Given the description of an element on the screen output the (x, y) to click on. 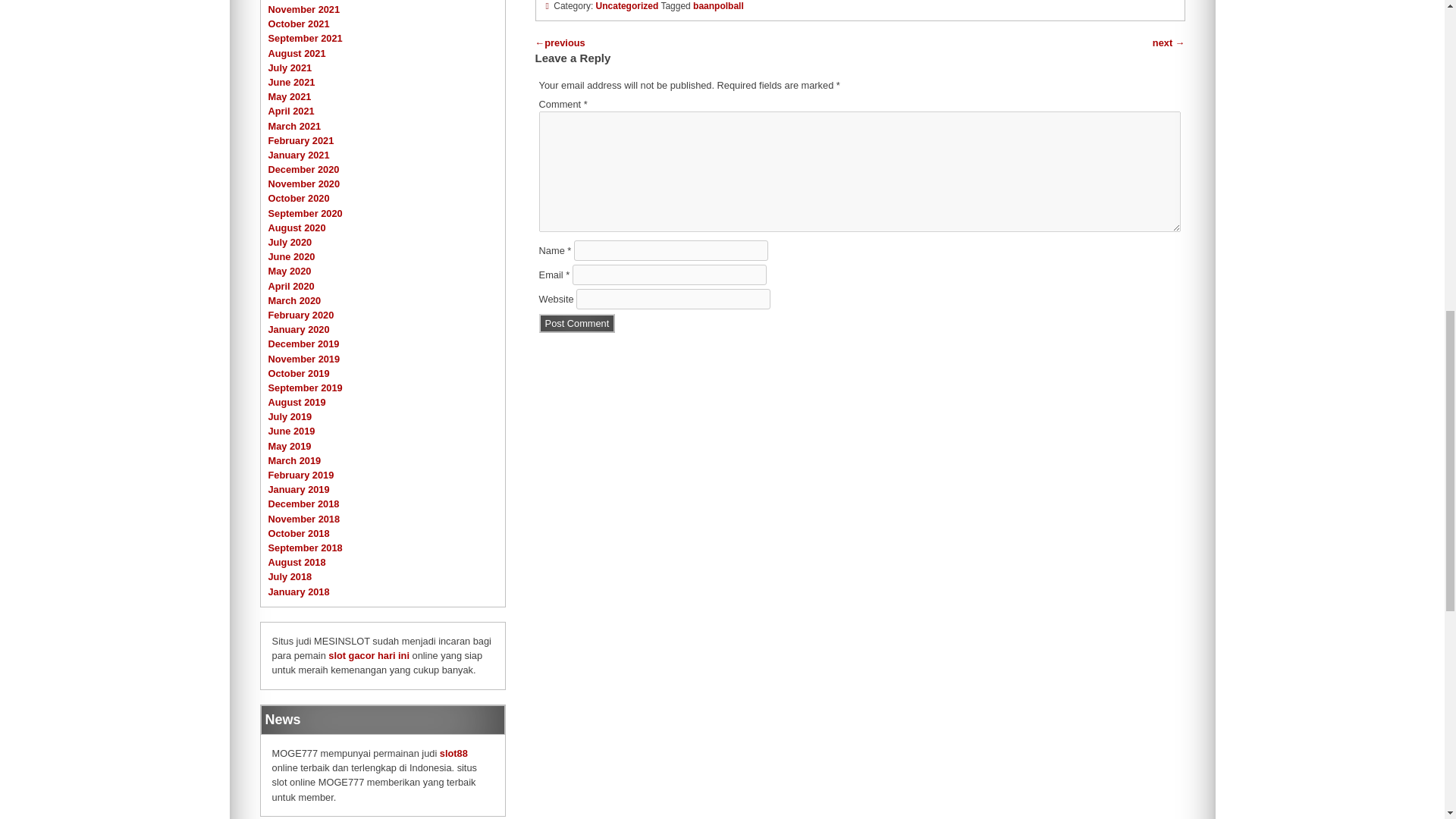
Post Comment (576, 322)
Uncategorized (627, 5)
Post Comment (576, 322)
baanpolball (718, 5)
